Given the description of an element on the screen output the (x, y) to click on. 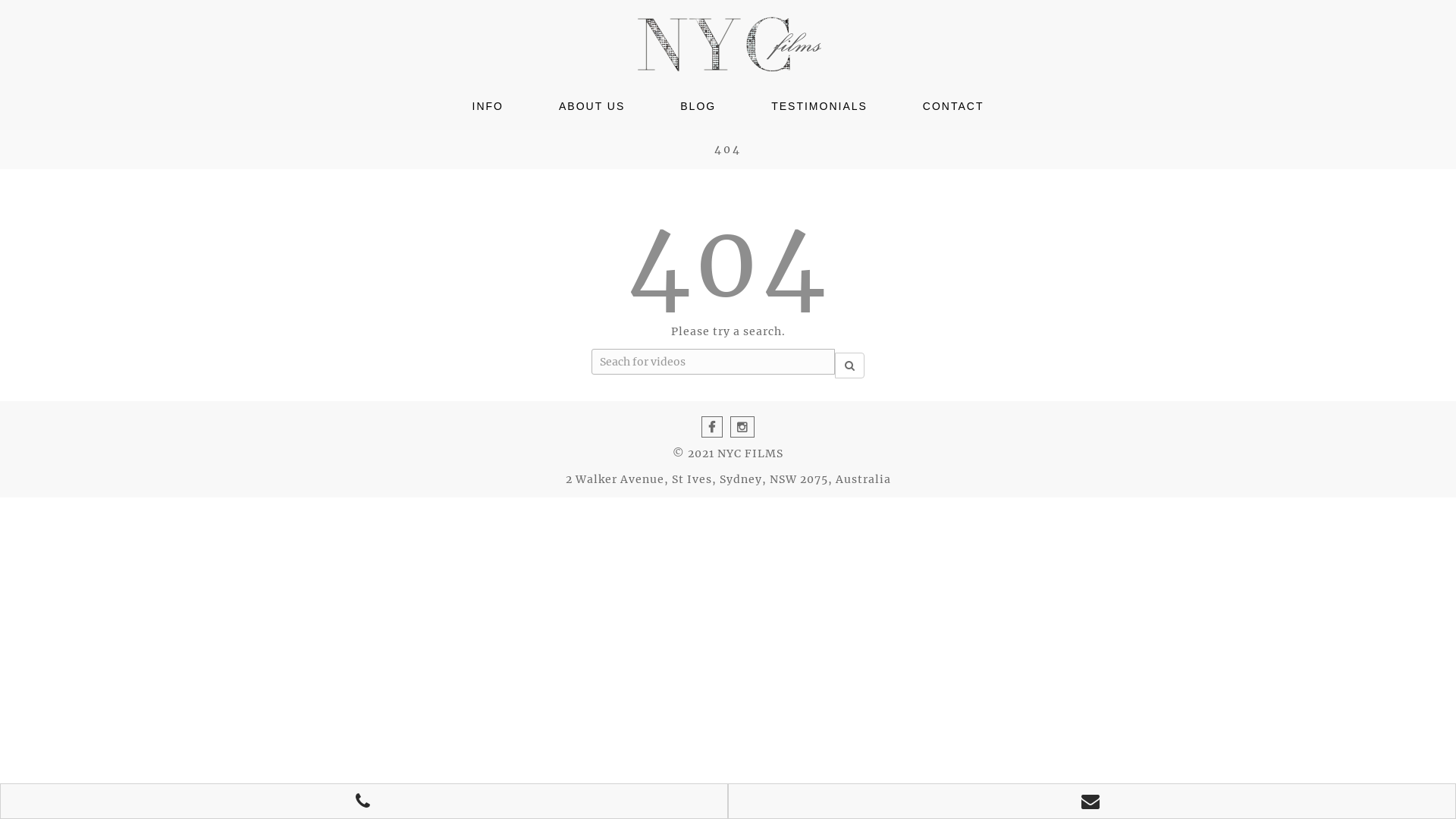
BLOG Element type: text (697, 106)
CONTACT Element type: text (953, 106)
INFO Element type: text (487, 106)
ABOUT US Element type: text (591, 106)
TESTIMONIALS Element type: text (819, 106)
Page not found Element type: hover (727, 44)
